Given the description of an element on the screen output the (x, y) to click on. 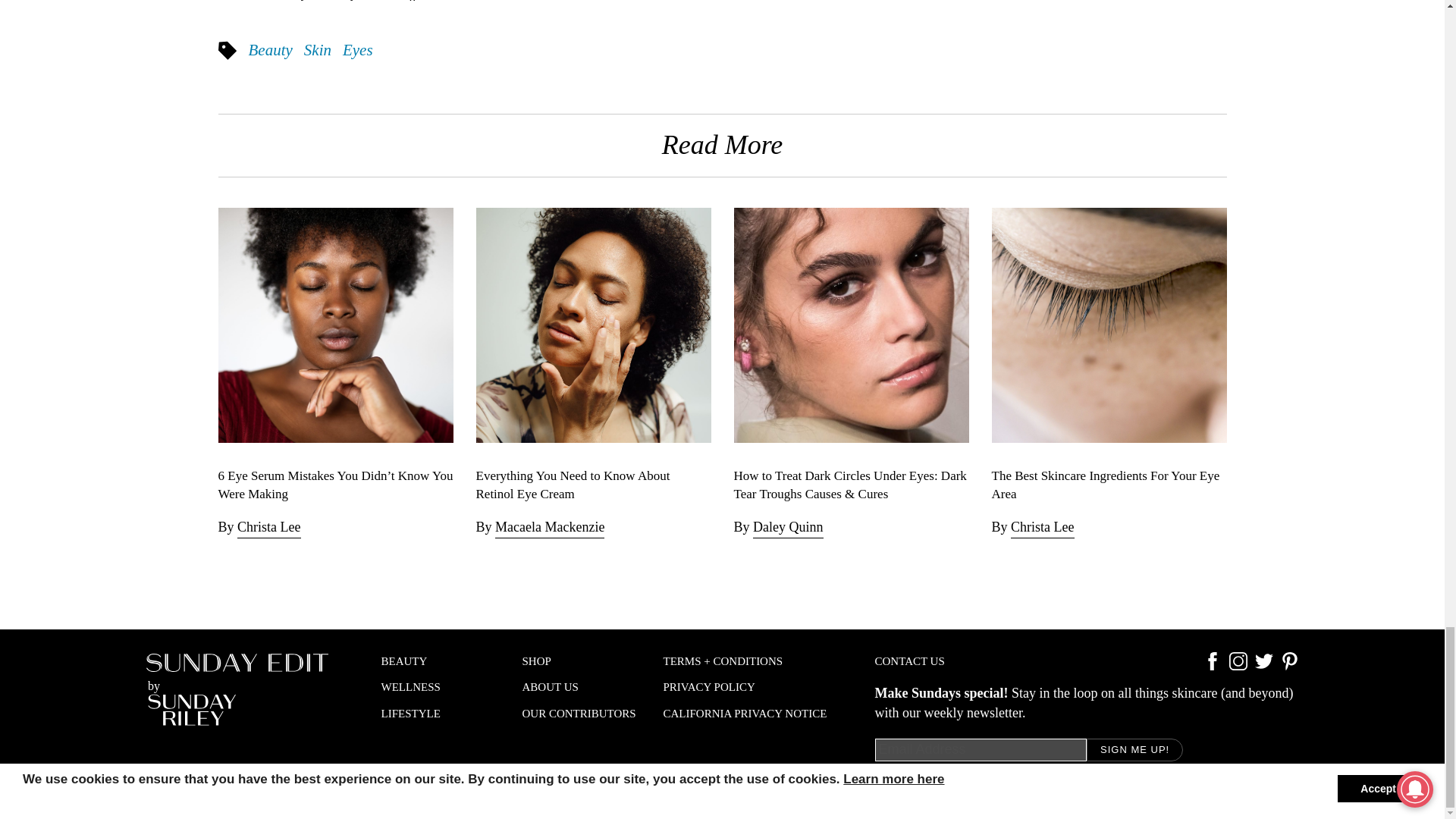
by (236, 689)
Twitter (1262, 666)
Instagram (1237, 666)
Pinterest (1288, 666)
Facebook (1212, 666)
